Given the description of an element on the screen output the (x, y) to click on. 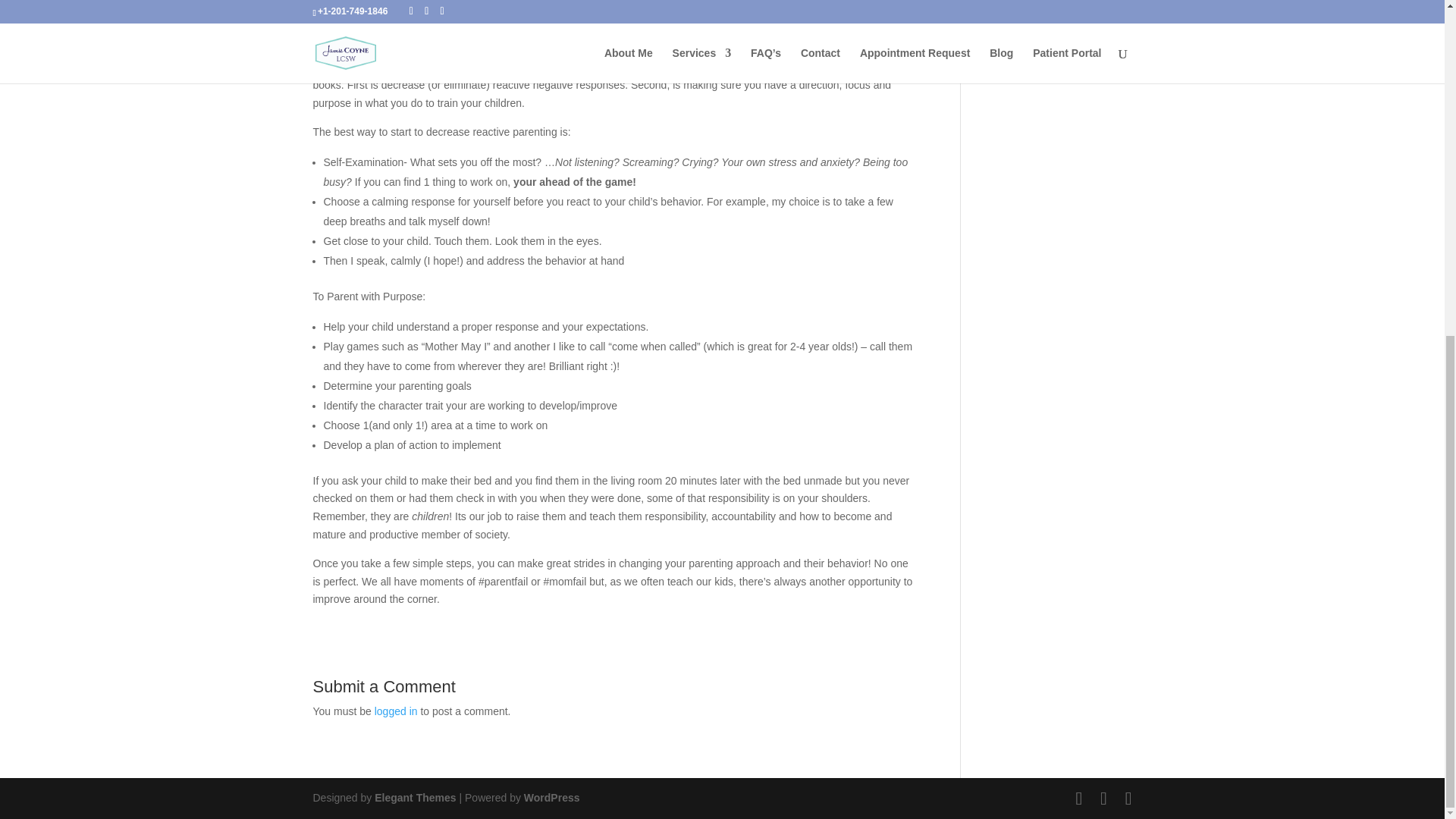
logged in (395, 711)
Elegant Themes (414, 797)
WordPress (551, 797)
Premium WordPress Themes (414, 797)
